Given the description of an element on the screen output the (x, y) to click on. 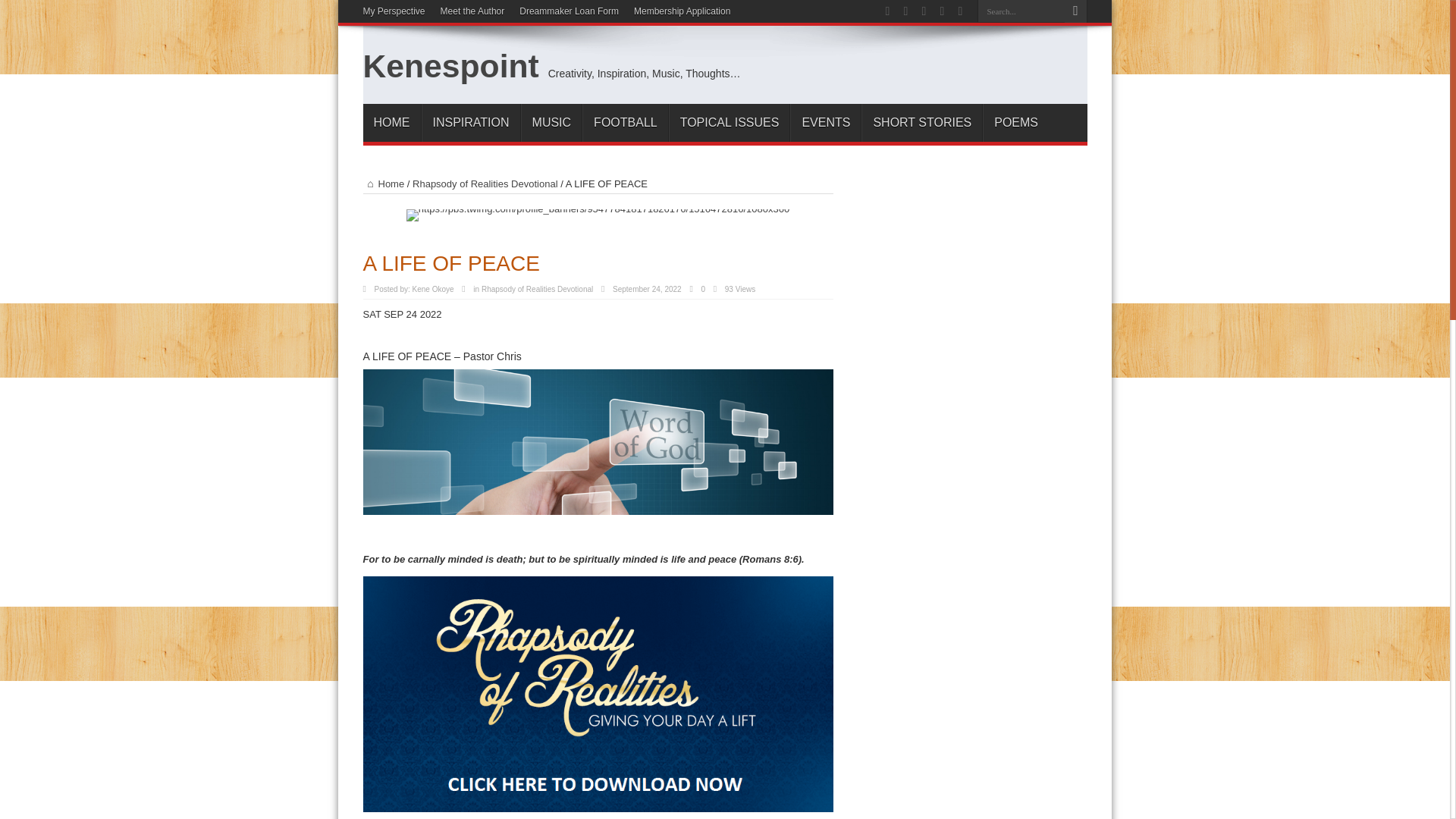
Meet the Author (473, 11)
EVENTS (825, 122)
Search... (1020, 11)
Membership Application (681, 11)
Kenespoint (450, 65)
My Perspective (393, 11)
Dreammaker Loan Form (568, 11)
POEMS (1015, 122)
Search (1075, 11)
SHORT STORIES (921, 122)
